Given the description of an element on the screen output the (x, y) to click on. 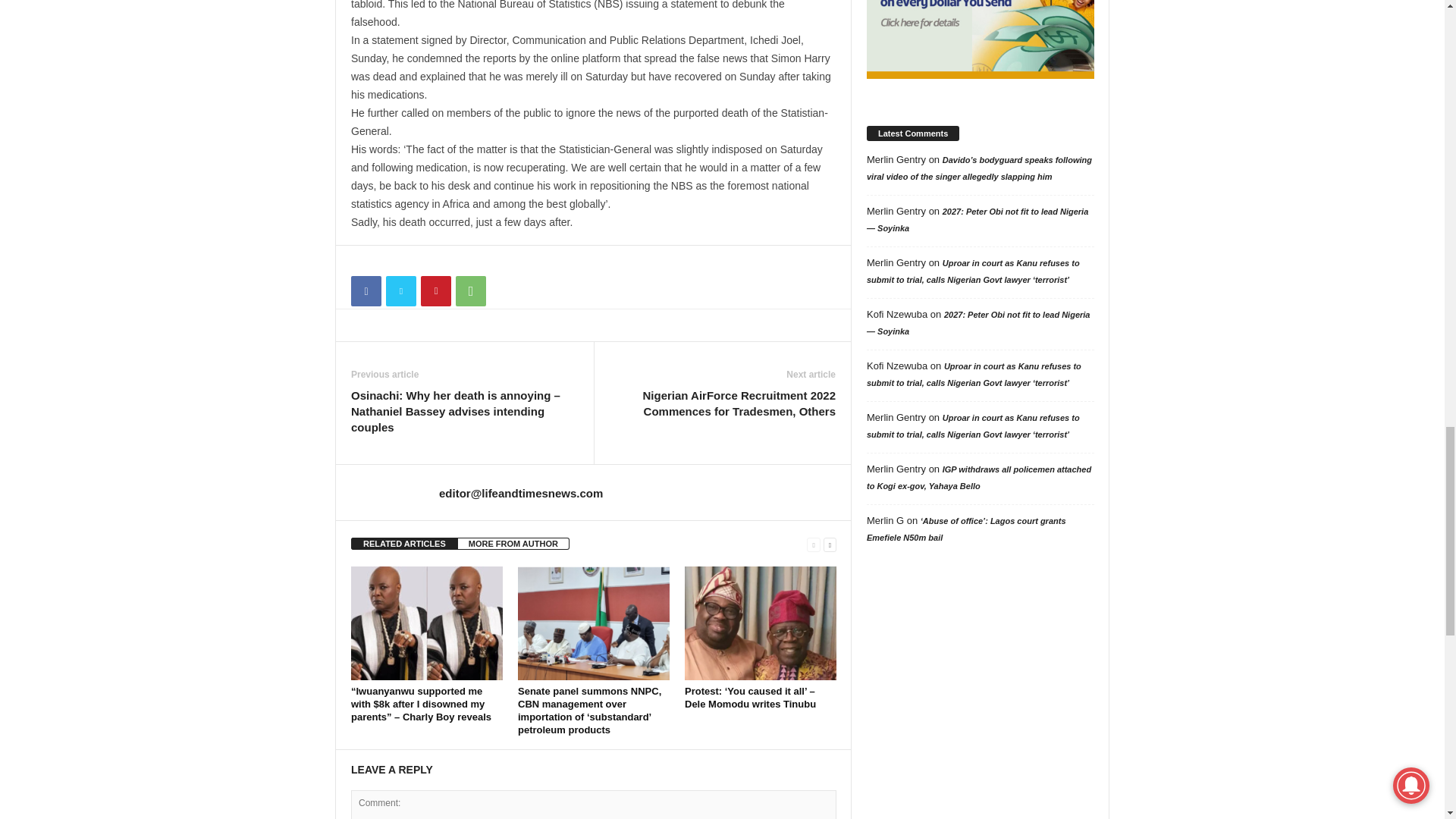
WhatsApp (470, 291)
Twitter (400, 291)
Facebook (365, 291)
Pinterest (435, 291)
